Given the description of an element on the screen output the (x, y) to click on. 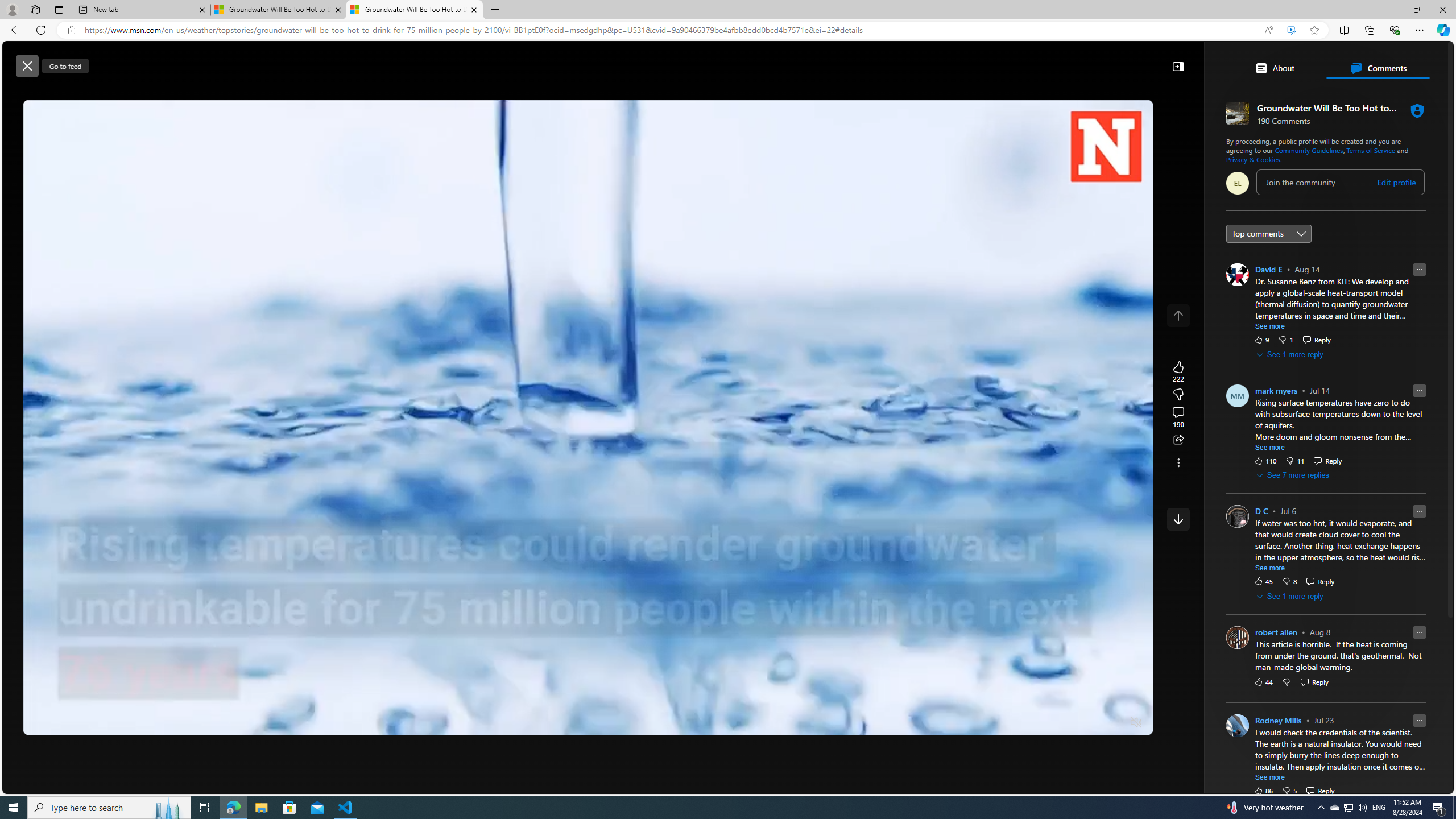
mark myers (1276, 390)
Pause (39, 723)
Enhance video (1291, 29)
Class: control icon-only (1178, 315)
More like this222Fewer like thisView comments (1178, 394)
Comments (1377, 67)
Following (373, 92)
45 Like (1262, 581)
Open navigation menu (292, 92)
